Given the description of an element on the screen output the (x, y) to click on. 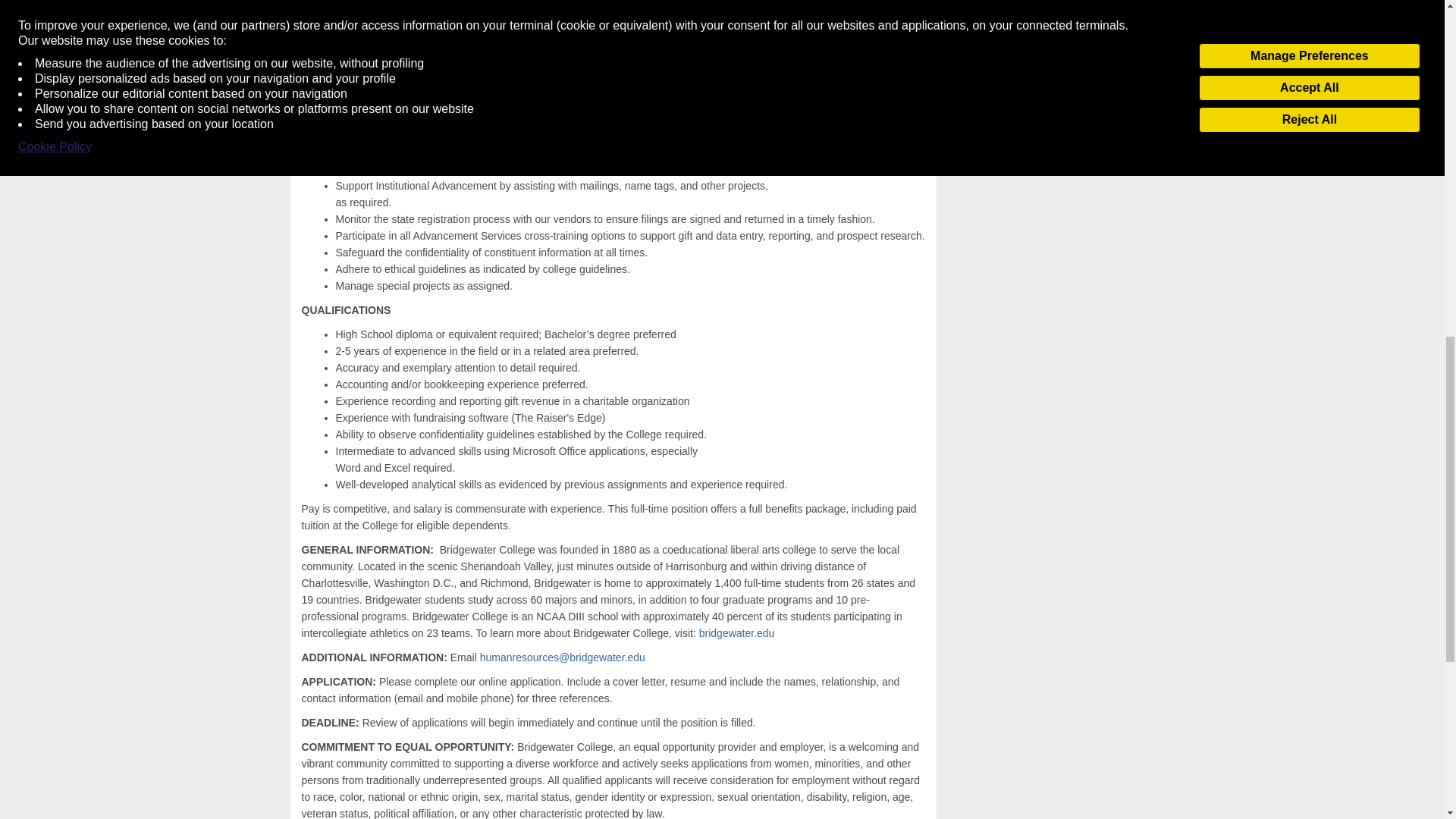
bridgewater.edu  (737, 633)
